Given the description of an element on the screen output the (x, y) to click on. 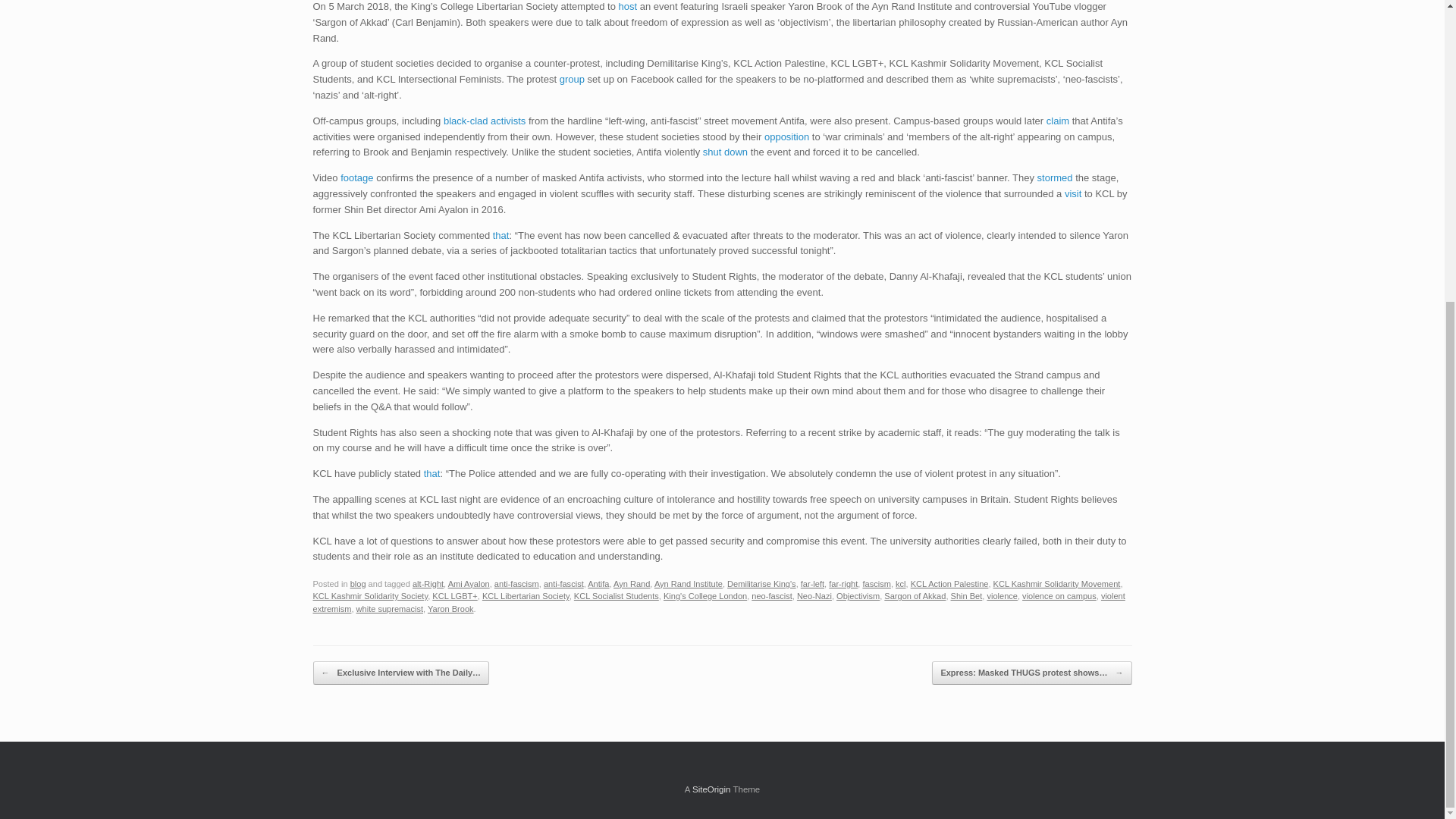
Antifa (598, 583)
claim (1057, 120)
stormed (1054, 177)
footage (356, 177)
blog (358, 583)
visit (1072, 193)
host (627, 6)
anti-fascist (563, 583)
that (501, 235)
group (572, 79)
